Given the description of an element on the screen output the (x, y) to click on. 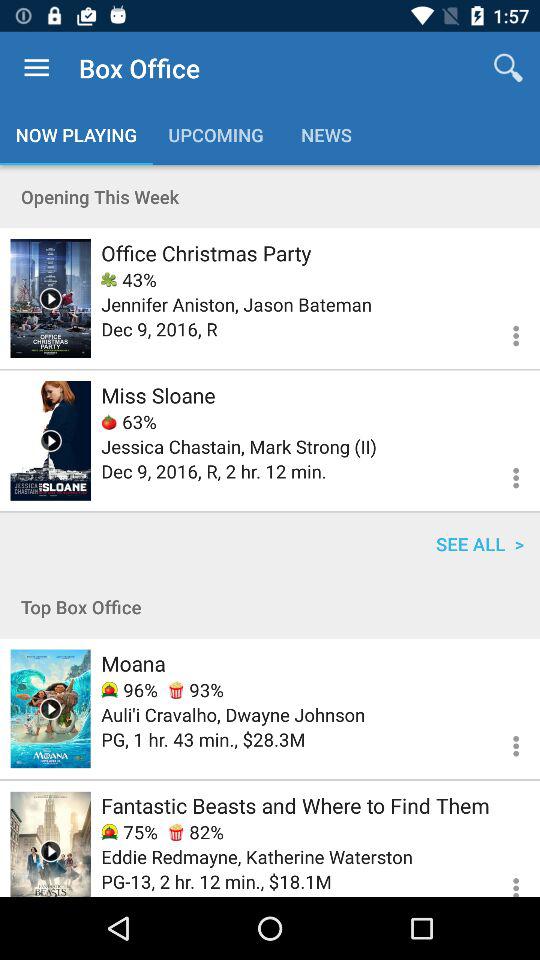
option menu (503, 475)
